Given the description of an element on the screen output the (x, y) to click on. 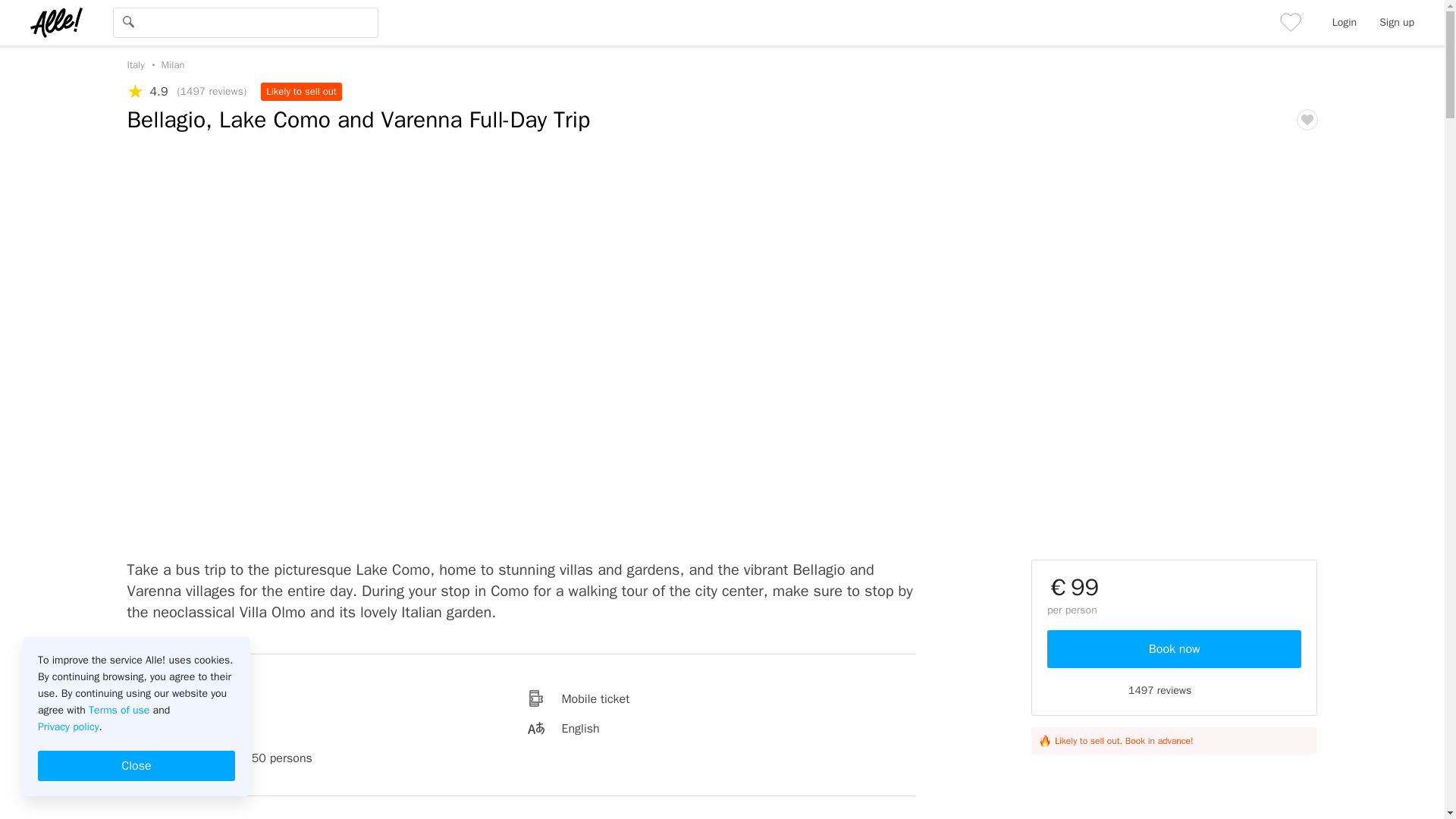
Terms of use (118, 709)
Milan (168, 64)
Book now (1173, 648)
Italy (136, 64)
Tours in Milan (168, 64)
Tours in Italy (136, 64)
1497 reviews (1174, 690)
Privacy policy (68, 726)
